Given the description of an element on the screen output the (x, y) to click on. 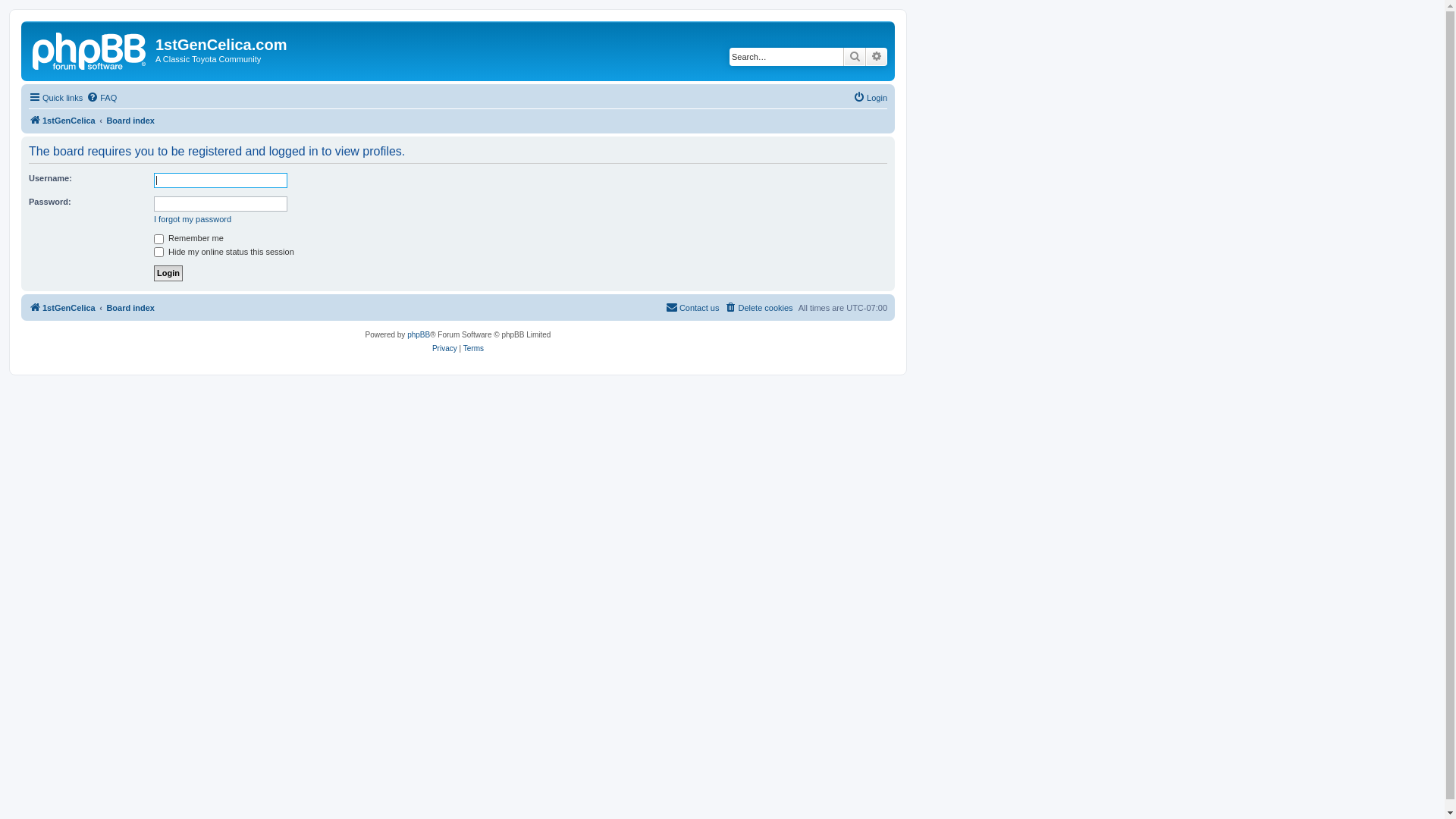
Contact us Element type: text (692, 307)
Delete cookies Element type: text (758, 307)
Privacy Element type: text (444, 348)
Login Element type: text (167, 273)
Board index Element type: text (130, 307)
FAQ Element type: text (101, 97)
1stGenCelica Element type: text (61, 307)
Search for keywords Element type: hover (786, 56)
1stGenCelica Element type: hover (90, 49)
1stGenCelica Element type: text (61, 120)
Login Element type: text (870, 97)
Advanced search Element type: text (876, 56)
phpBB Element type: text (418, 335)
Board index Element type: text (130, 120)
Quick links Element type: text (55, 97)
Search Element type: text (854, 56)
I forgot my password Element type: text (192, 218)
Terms Element type: text (473, 348)
